Given the description of an element on the screen output the (x, y) to click on. 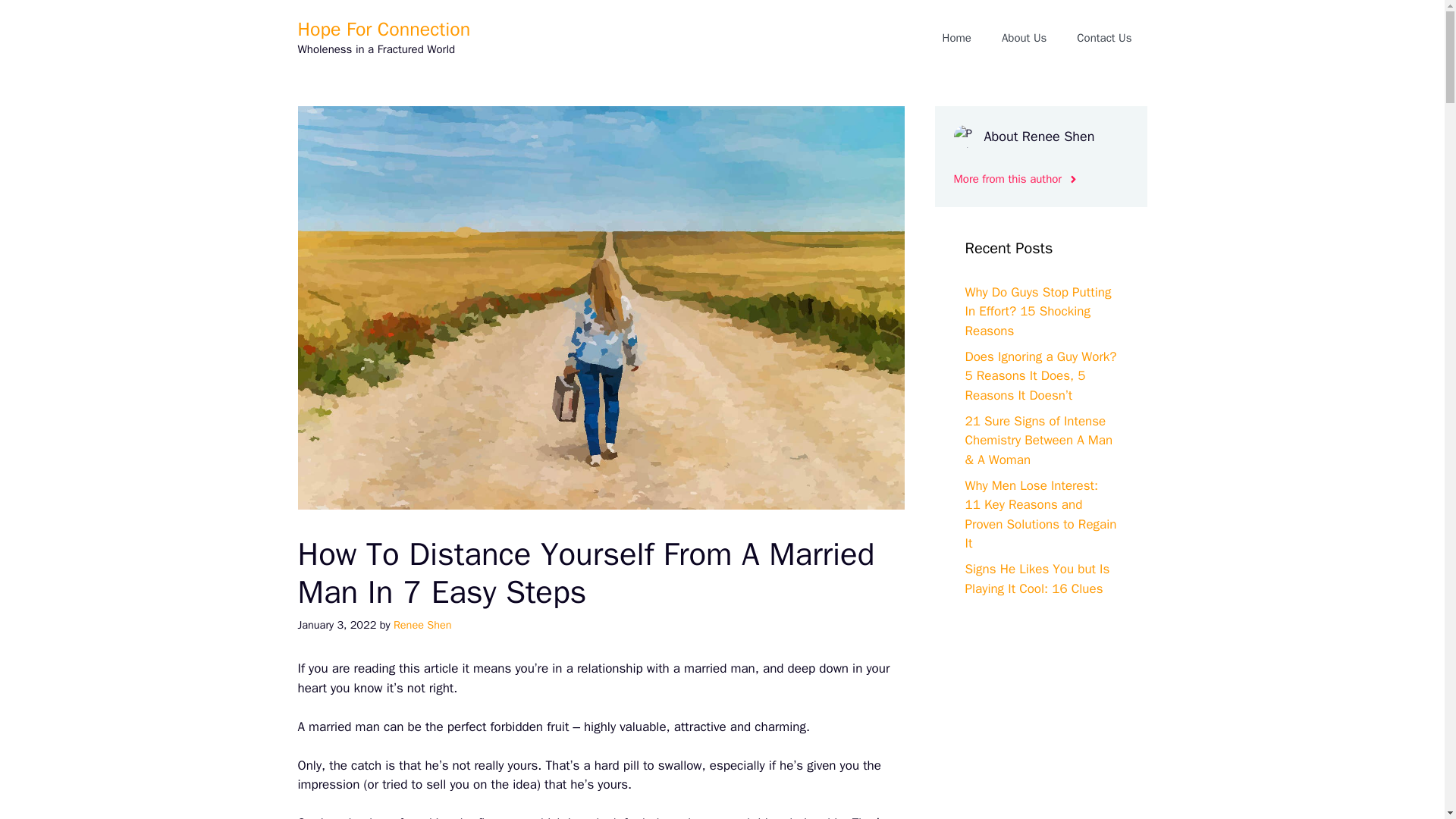
Home (957, 37)
Contact Us (1104, 37)
Renee Shen (422, 624)
View all posts by Renee Shen (422, 624)
Hope For Connection (383, 28)
About Us (1024, 37)
